Given the description of an element on the screen output the (x, y) to click on. 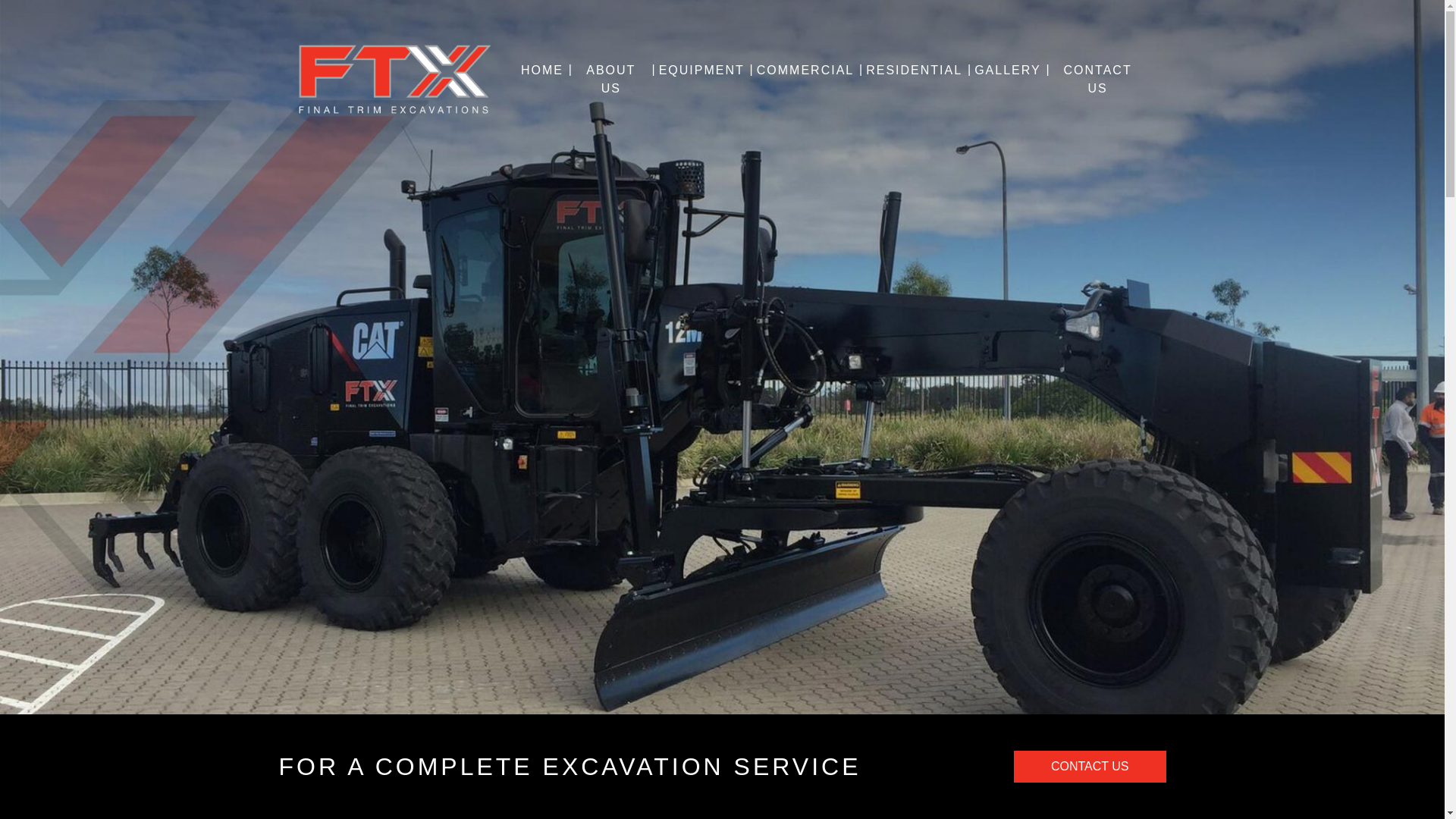
GALLERY Element type: text (1007, 70)
CONTACT US Element type: text (1097, 79)
ABOUT US Element type: text (610, 79)
EQUIPMENT Element type: text (701, 70)
CONTACT US Element type: text (1089, 766)
HOME Element type: text (541, 70)
COMMERCIAL Element type: text (804, 70)
RESIDENTIAL Element type: text (913, 70)
